Given the description of an element on the screen output the (x, y) to click on. 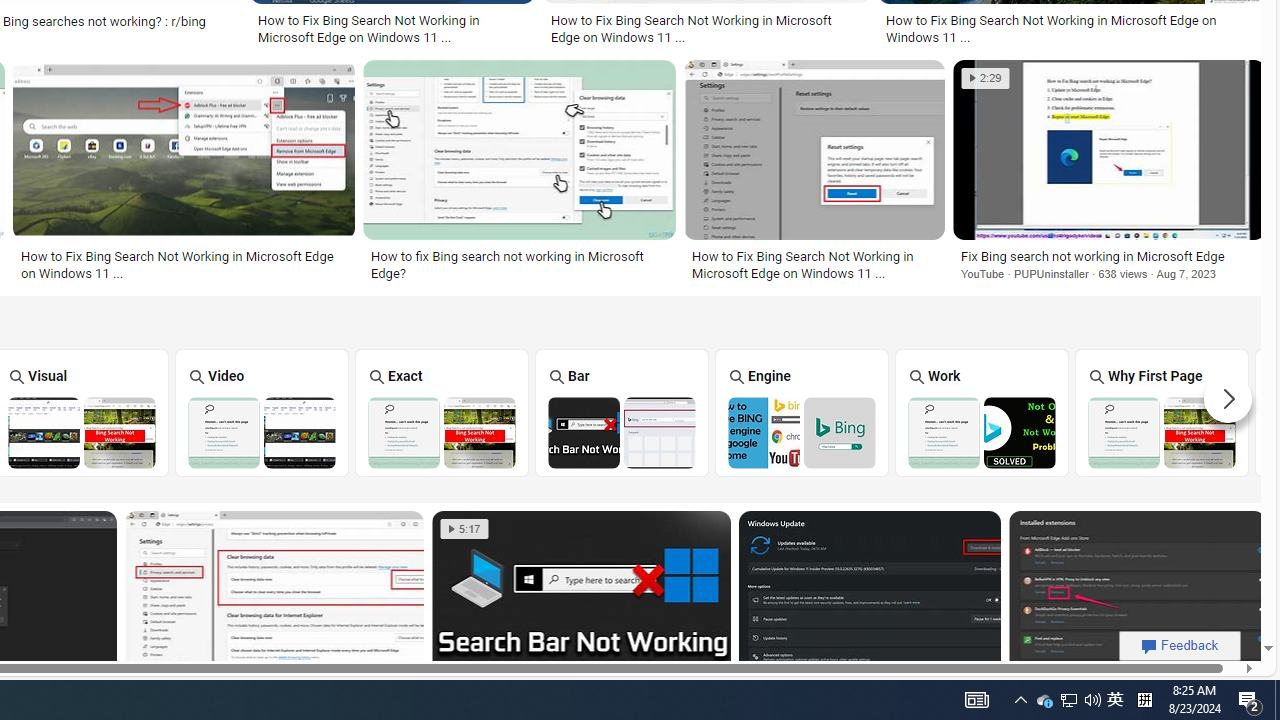
Exact (441, 412)
How to fix Bing search not working in Microsoft Edge? (519, 264)
Engine (801, 412)
Bing Search Bar Not Working Bar (621, 412)
Why First Page of Bing Search Not Working (1162, 432)
Bing Search Bar Not Working (622, 432)
Bing searches not working? : r/bing (118, 21)
5:17 (464, 528)
Bing Exact Search Not Working Exact (441, 412)
Fix Bing search not working in Microsoft Edge (1109, 255)
Work (981, 412)
Fix Bing search not working in Microsoft Edge (1109, 255)
Why First Page of Bing Search Not Working Why First Page (1162, 412)
